Given the description of an element on the screen output the (x, y) to click on. 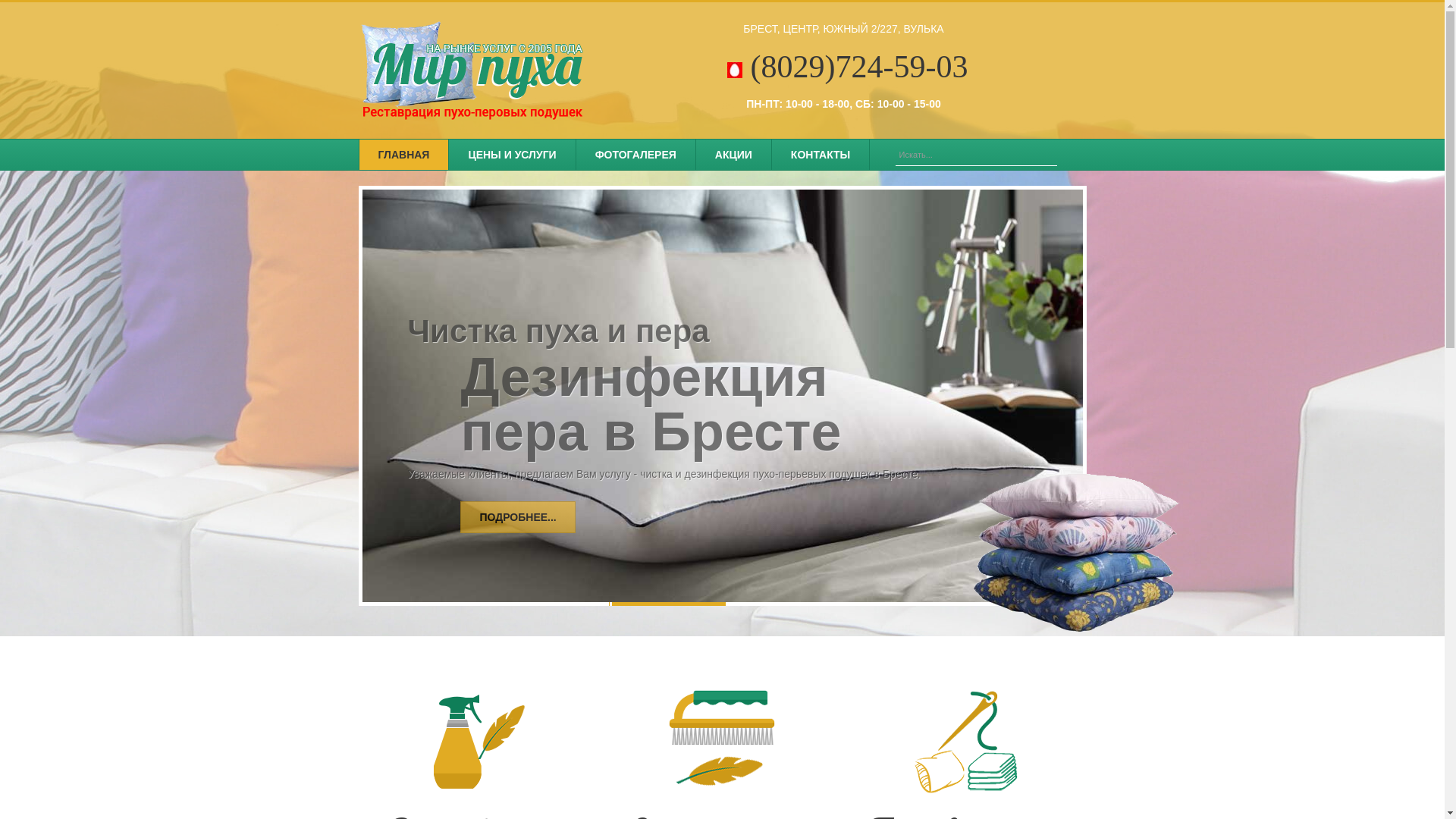
Slide 1 Element type: text (778, 603)
  Element type: text (1074, 154)
(8029)724-59-03 Element type: text (847, 72)
Slide 1 Element type: text (665, 603)
